Given the description of an element on the screen output the (x, y) to click on. 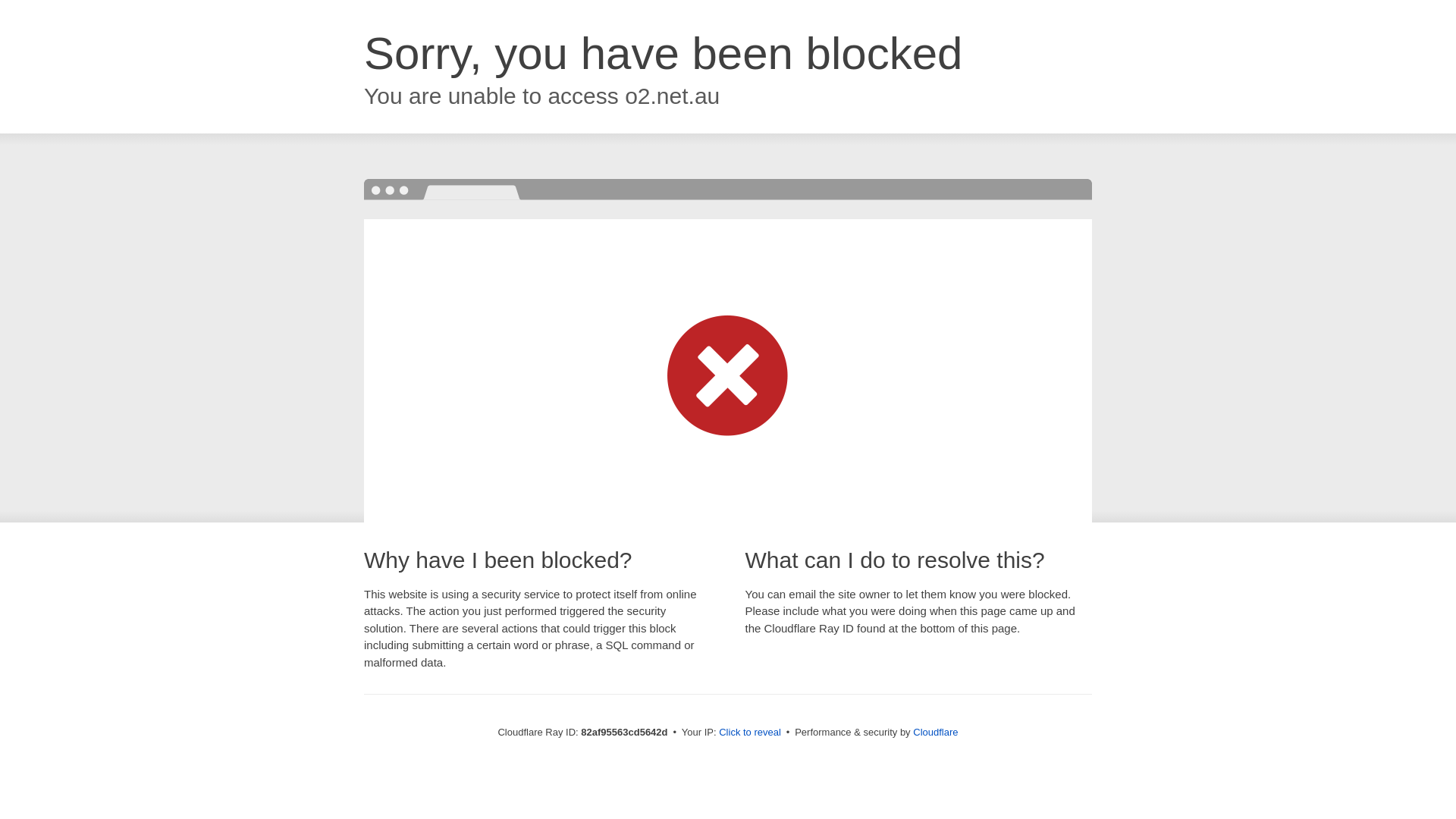
Cloudflare Element type: text (935, 731)
Click to reveal Element type: text (749, 732)
